Given the description of an element on the screen output the (x, y) to click on. 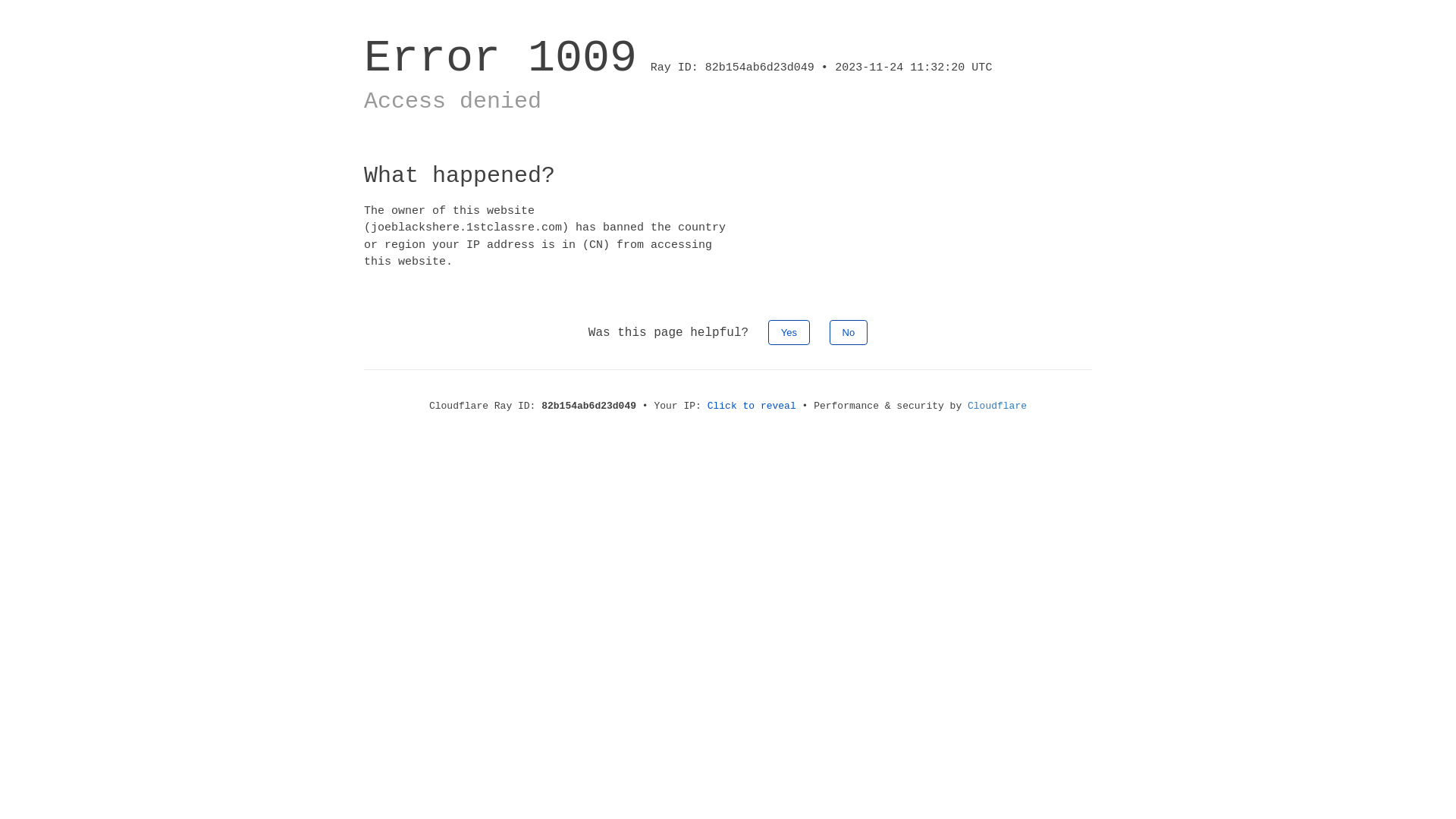
No Element type: text (848, 332)
Cloudflare Element type: text (996, 405)
Yes Element type: text (788, 332)
Click to reveal Element type: text (751, 405)
